Given the description of an element on the screen output the (x, y) to click on. 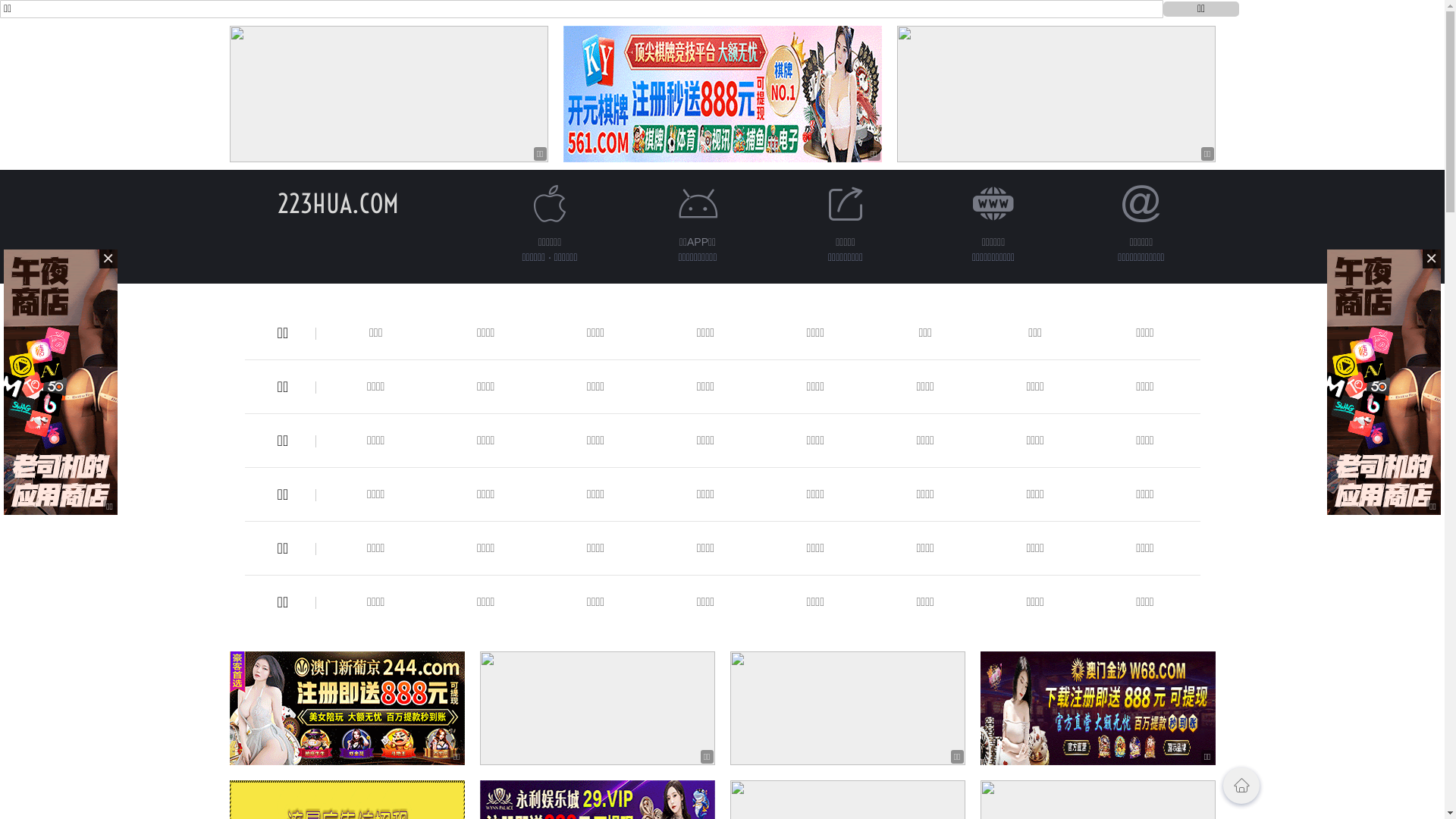
223HUA.COM Element type: text (337, 203)
